Given the description of an element on the screen output the (x, y) to click on. 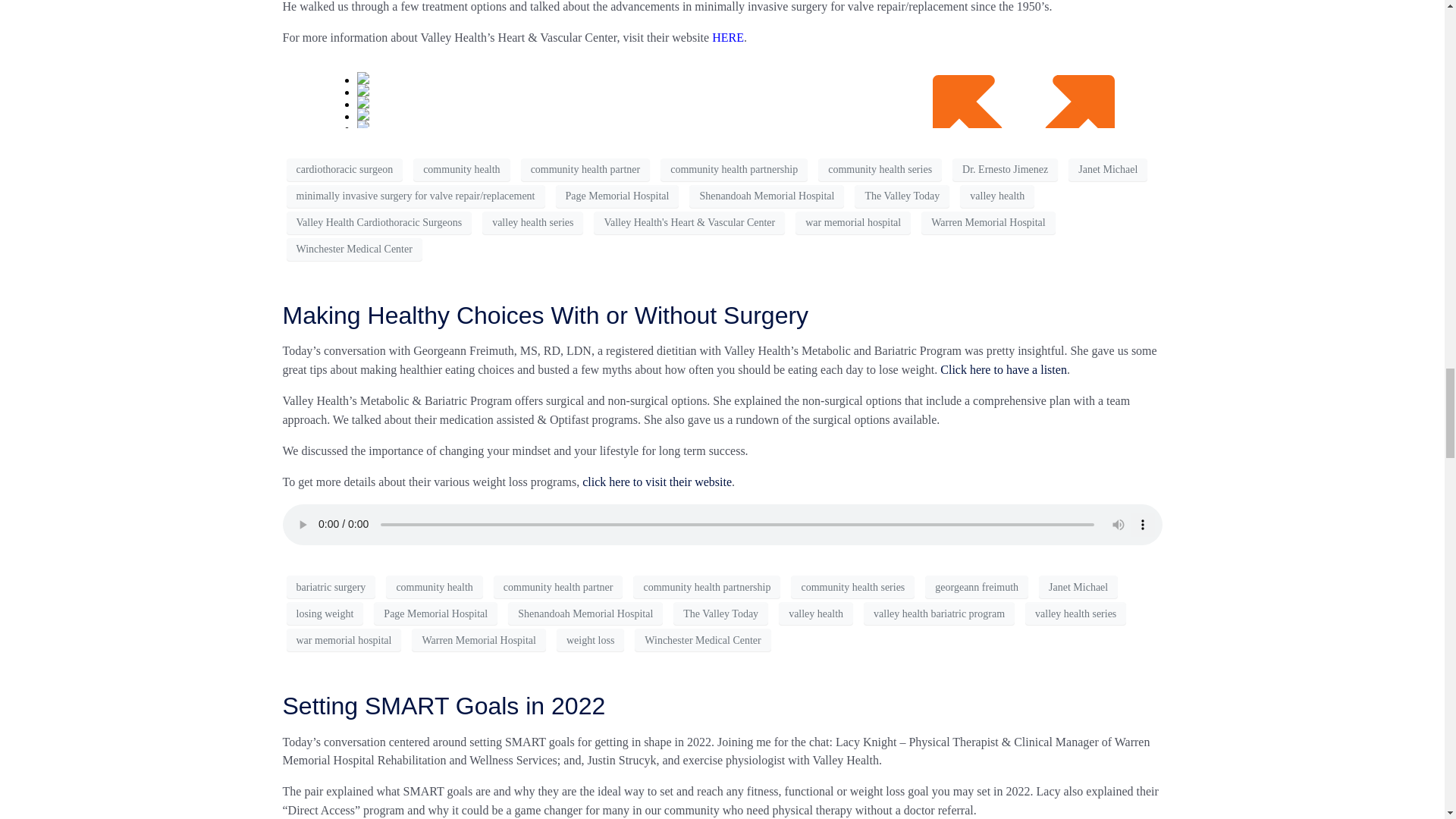
Making Healthy Choices With or Without Surgery (545, 315)
Setting SMART Goals in 2022 (443, 705)
Libsyn Player (721, 93)
